Given the description of an element on the screen output the (x, y) to click on. 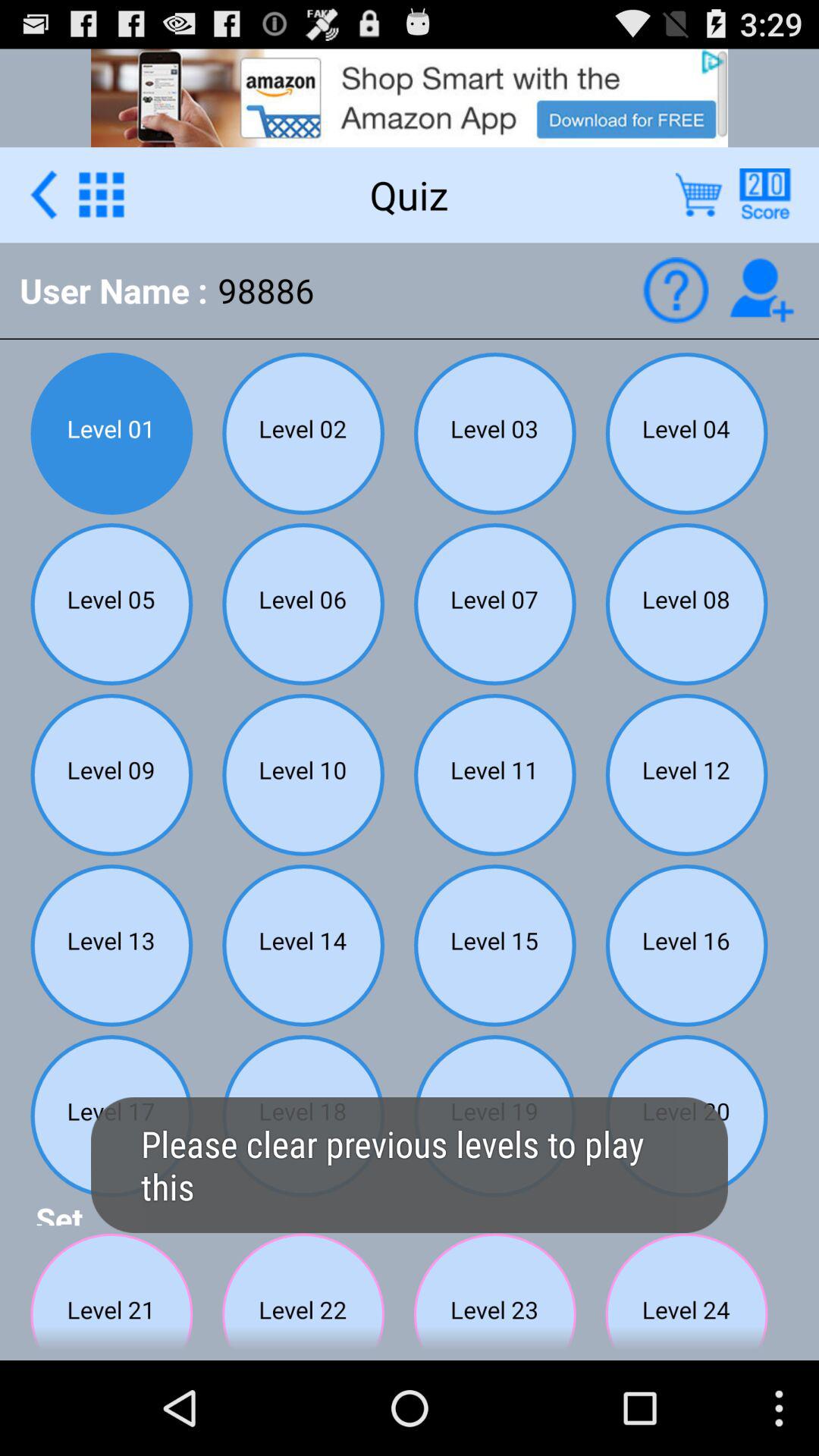
open settings (101, 194)
